Given the description of an element on the screen output the (x, y) to click on. 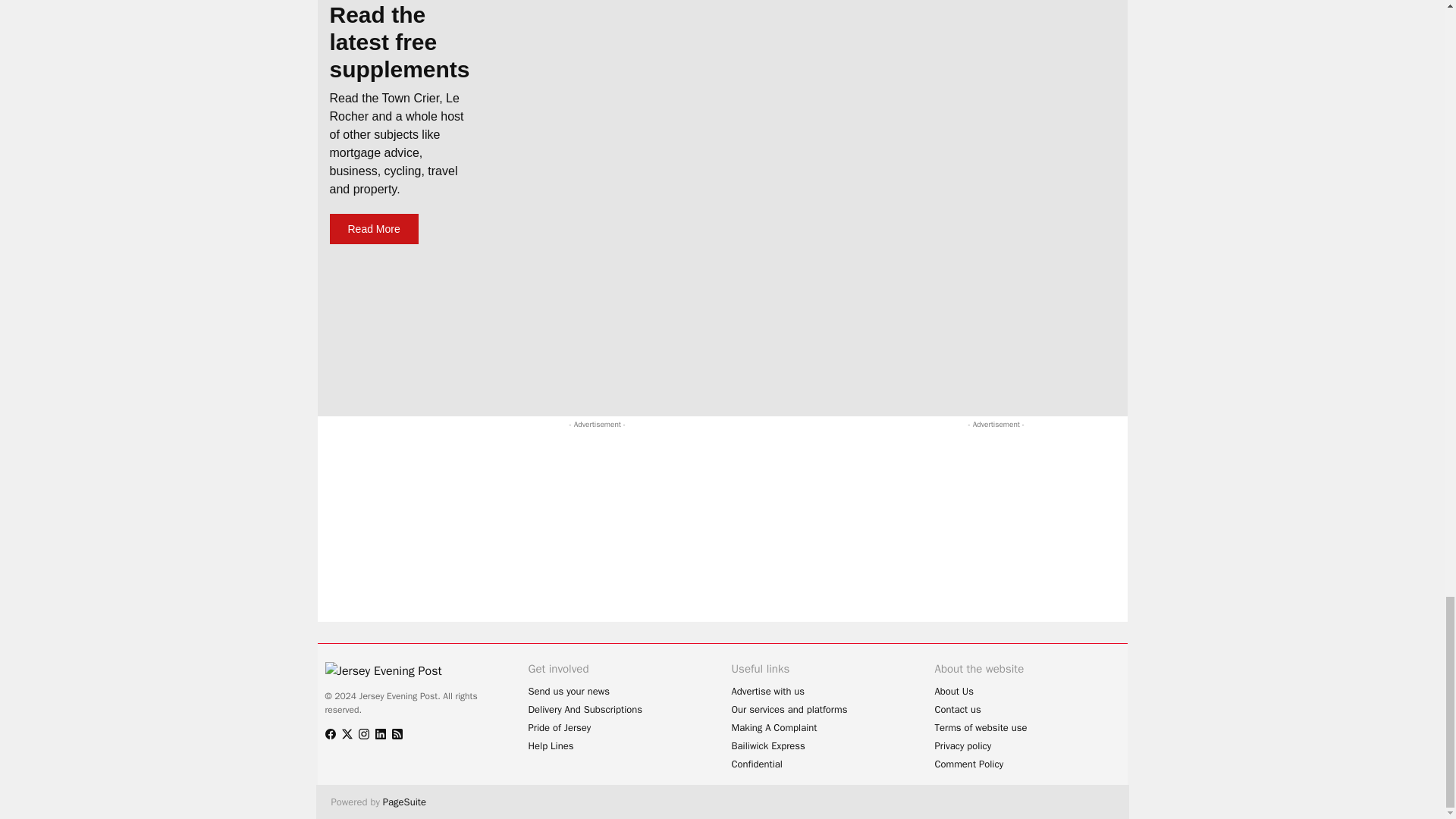
3rd party ad content (978, 526)
3rd party ad content (610, 466)
